Given the description of an element on the screen output the (x, y) to click on. 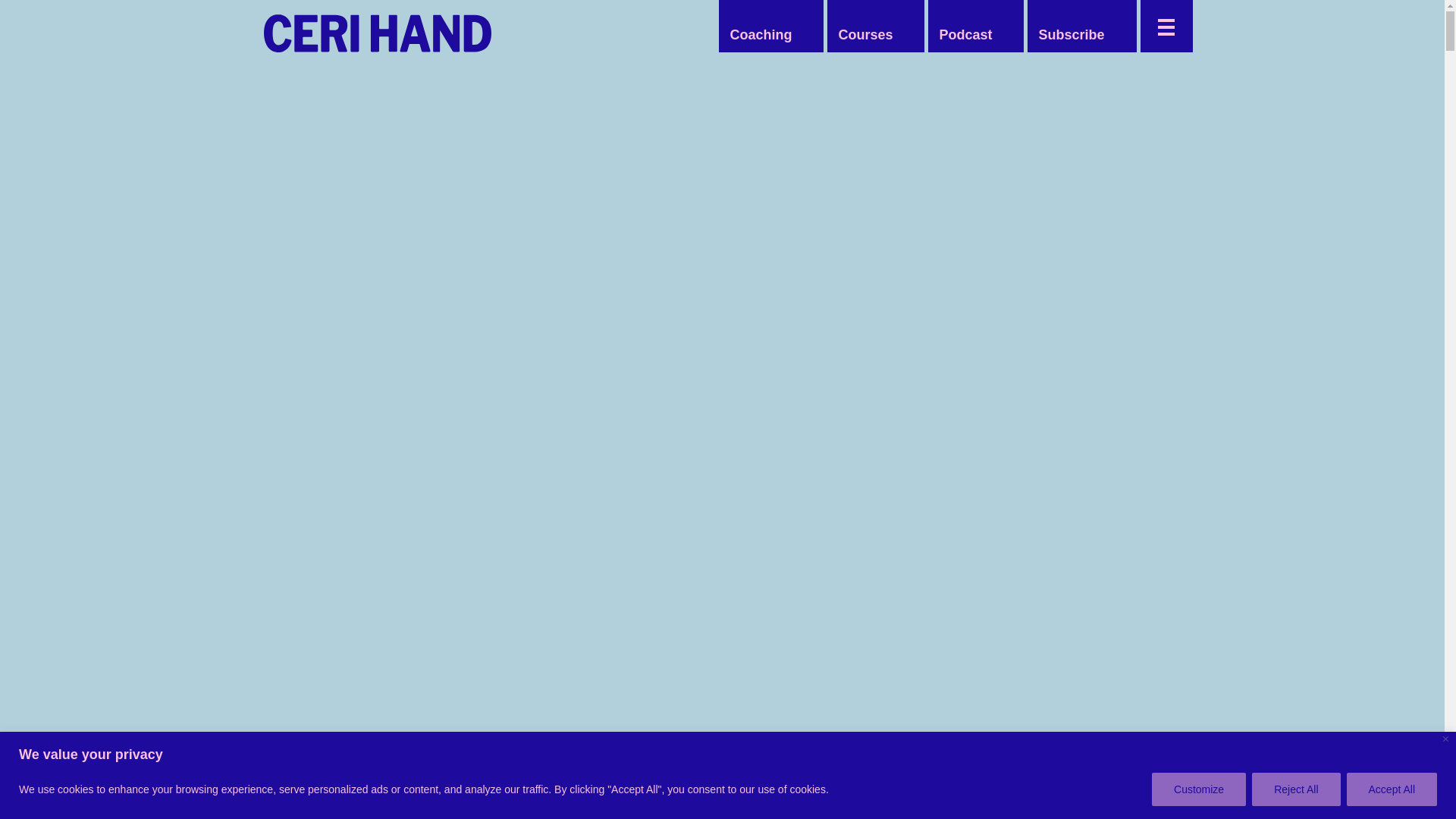
Reject All (1295, 788)
Podcast (964, 34)
Accept All (1391, 788)
Subscribe (1070, 34)
Courses (864, 34)
Customize (1198, 788)
Coaching (760, 34)
